Given the description of an element on the screen output the (x, y) to click on. 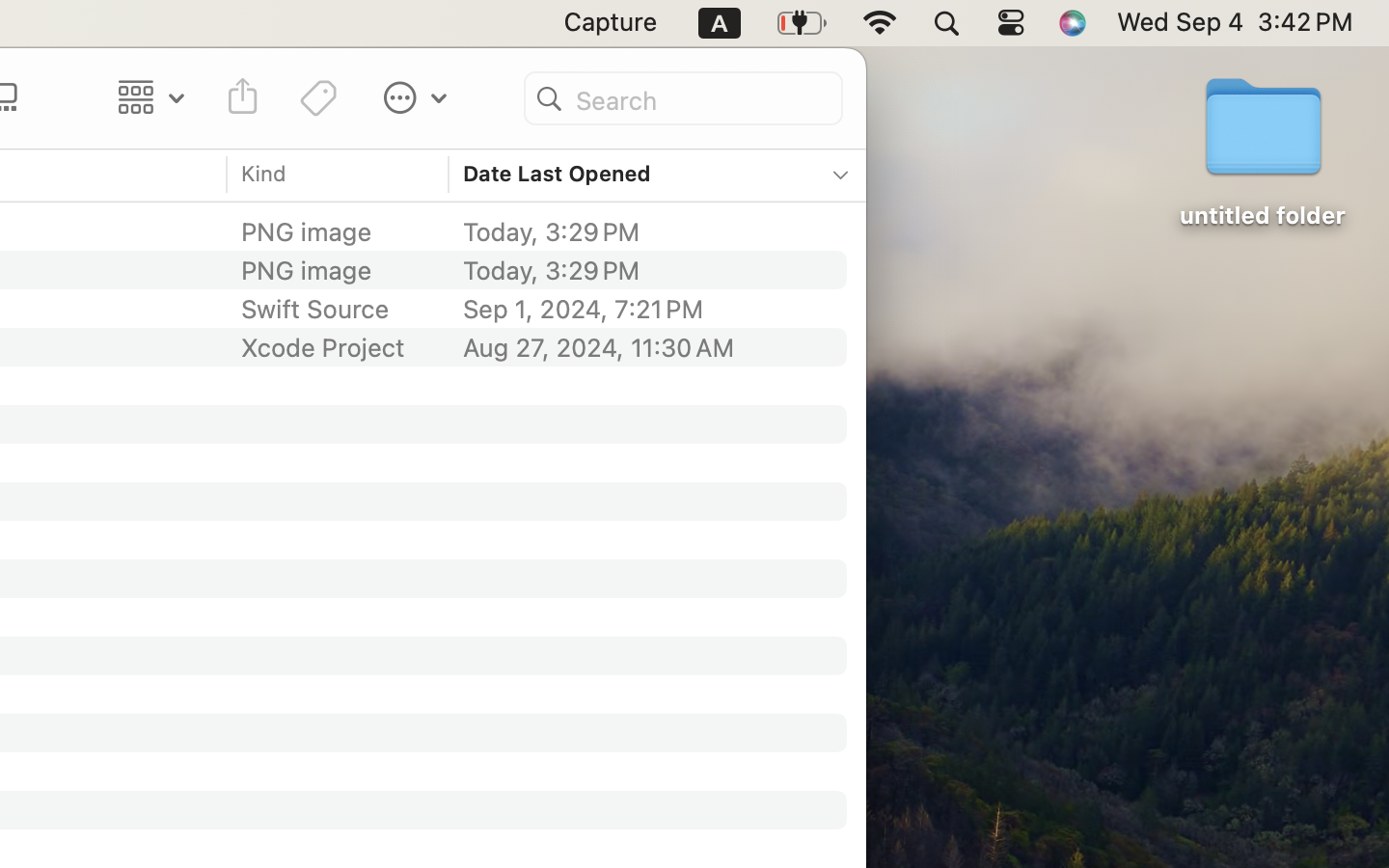
Aug 27, 2024, 11:30 AM Element type: AXStaticText (642, 346)
Date Last Opened Element type: AXStaticText (557, 173)
PNG image Element type: AXStaticText (310, 269)
Swift Source Element type: AXStaticText (315, 308)
Sep 1, 2024, 7:21 PM Element type: AXStaticText (642, 308)
